Given the description of an element on the screen output the (x, y) to click on. 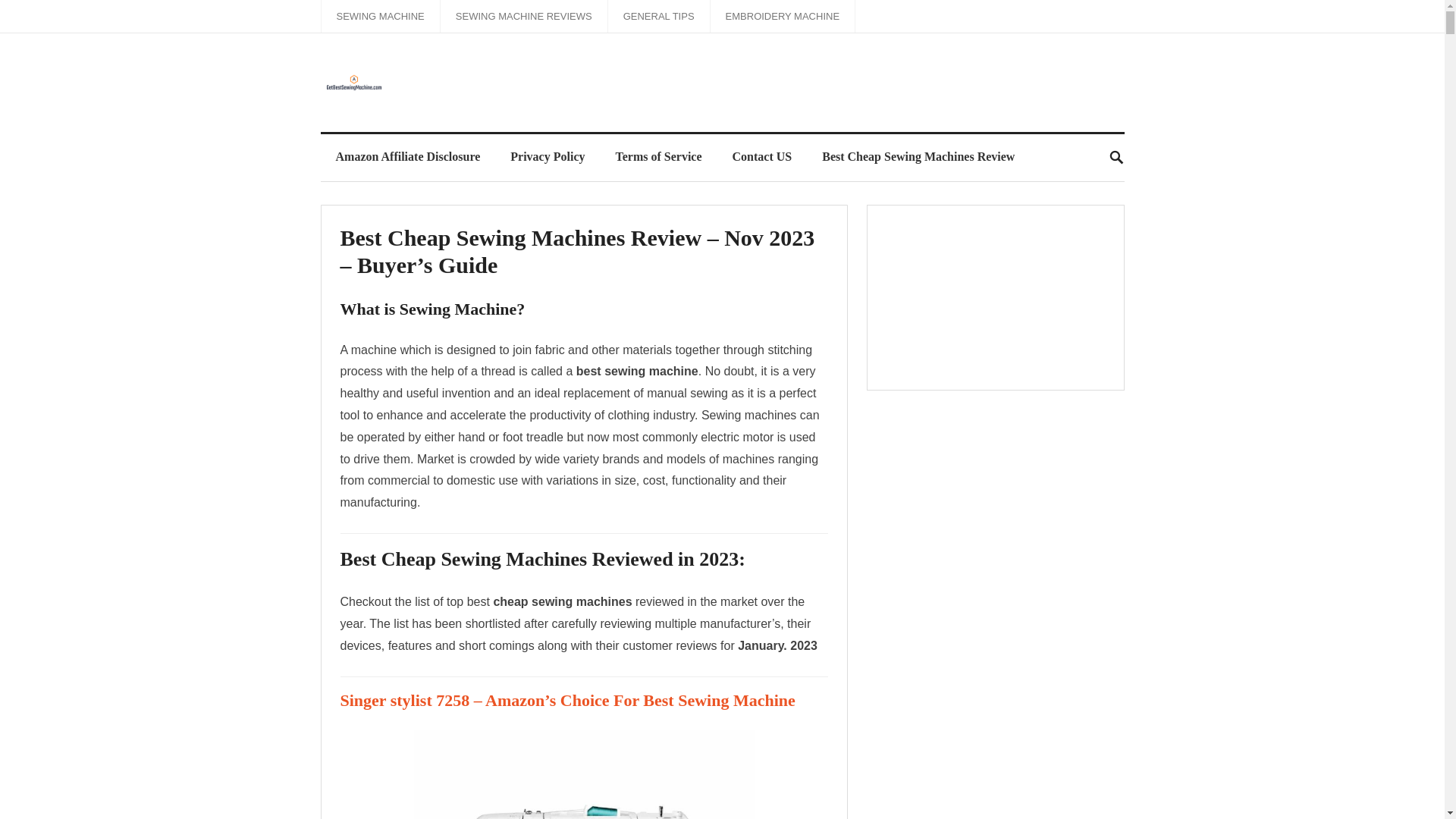
Terms of Service (657, 156)
GENERAL TIPS (659, 16)
Privacy Policy (547, 156)
Contact US (762, 156)
EMBROIDERY MACHINE (783, 16)
SEWING MACHINE REVIEWS (524, 16)
SEWING MACHINE (380, 16)
Best Cheap Sewing Machines Review (917, 156)
Amazon Affiliate Disclosure (407, 156)
